Given the description of an element on the screen output the (x, y) to click on. 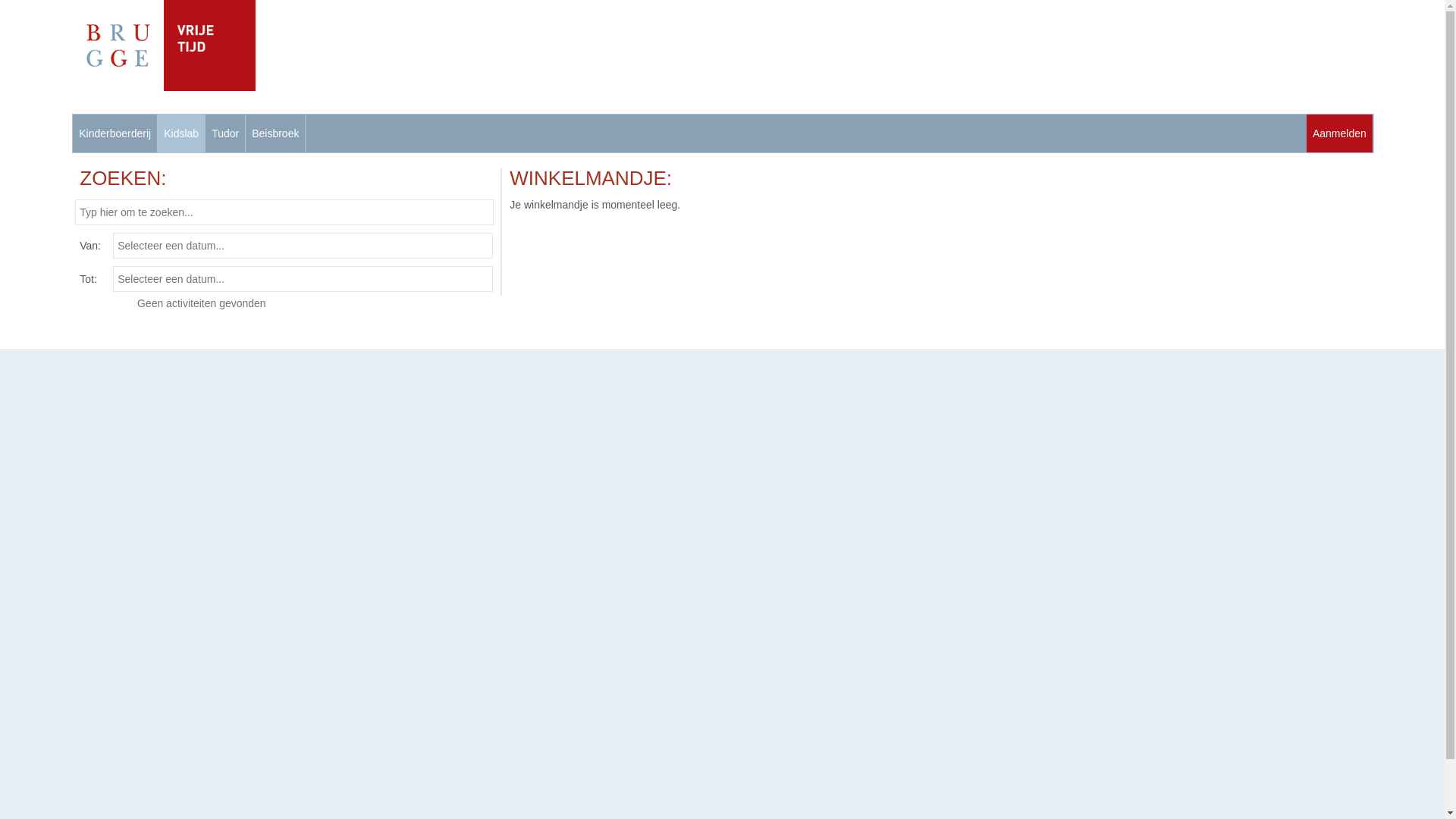
Kidslab Element type: text (180, 133)
Tudor Element type: text (224, 133)
Beisbroek Element type: text (274, 133)
Aanmelden Element type: text (1339, 133)
Kinderboerderij Element type: text (114, 133)
